Given the description of an element on the screen output the (x, y) to click on. 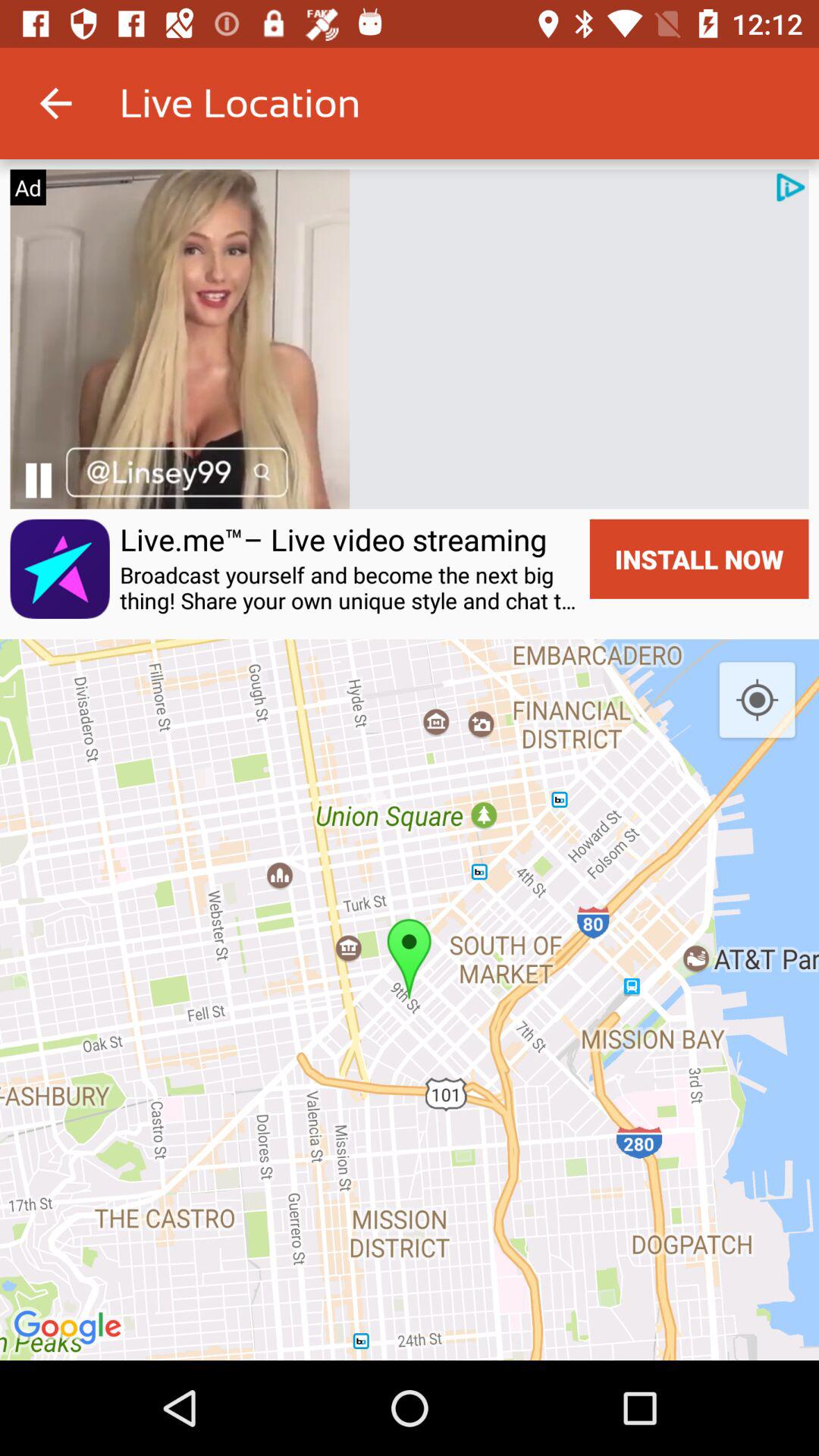
tap the icon to the left of the install now icon (333, 539)
